Given the description of an element on the screen output the (x, y) to click on. 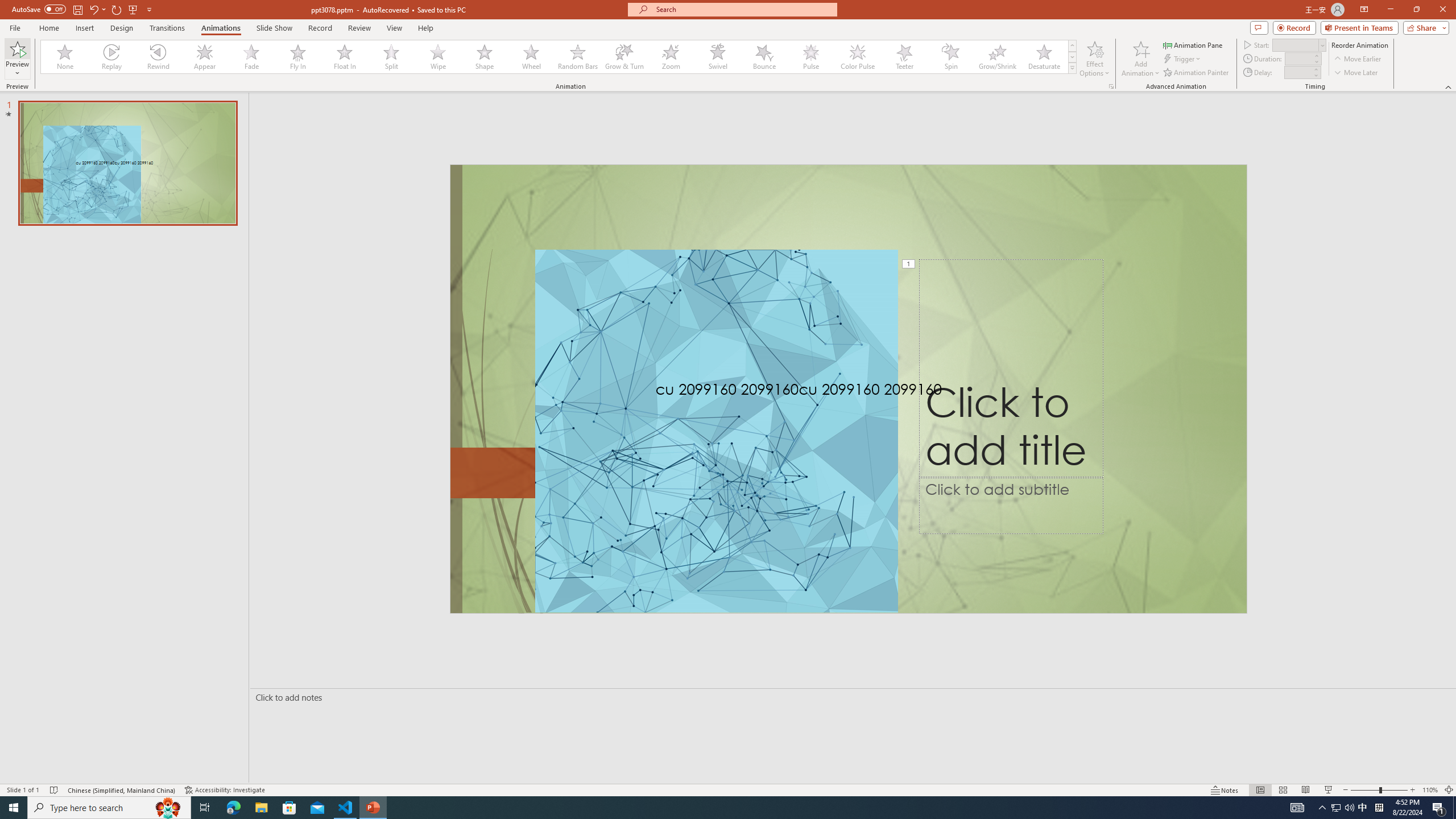
None (65, 56)
Wipe (437, 56)
Shape (484, 56)
Wheel (531, 56)
